Given the description of an element on the screen output the (x, y) to click on. 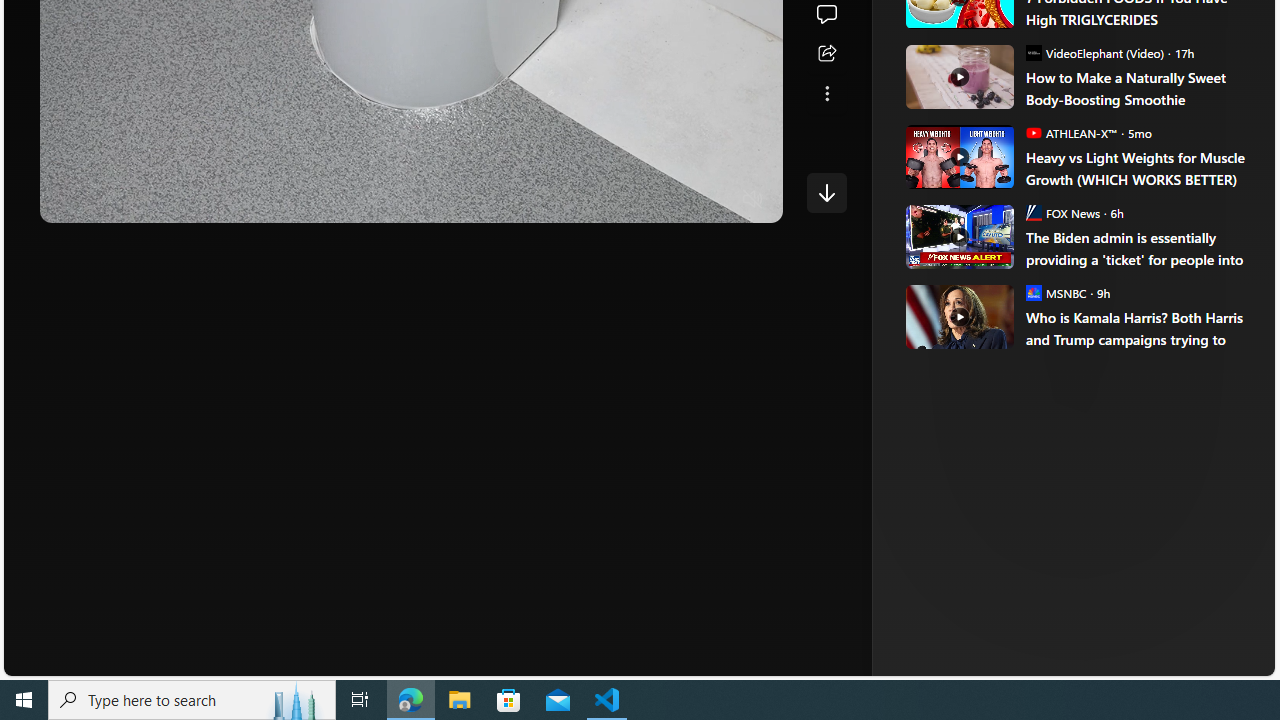
Fullscreen (714, 200)
Quality Settings (634, 200)
Pause (69, 200)
VideoElephant (Video) VideoElephant (Video) (1094, 52)
MSNBC (1033, 291)
Unmute (753, 200)
Progress Bar (411, 174)
Seek Forward (150, 200)
Captions (675, 200)
